Given the description of an element on the screen output the (x, y) to click on. 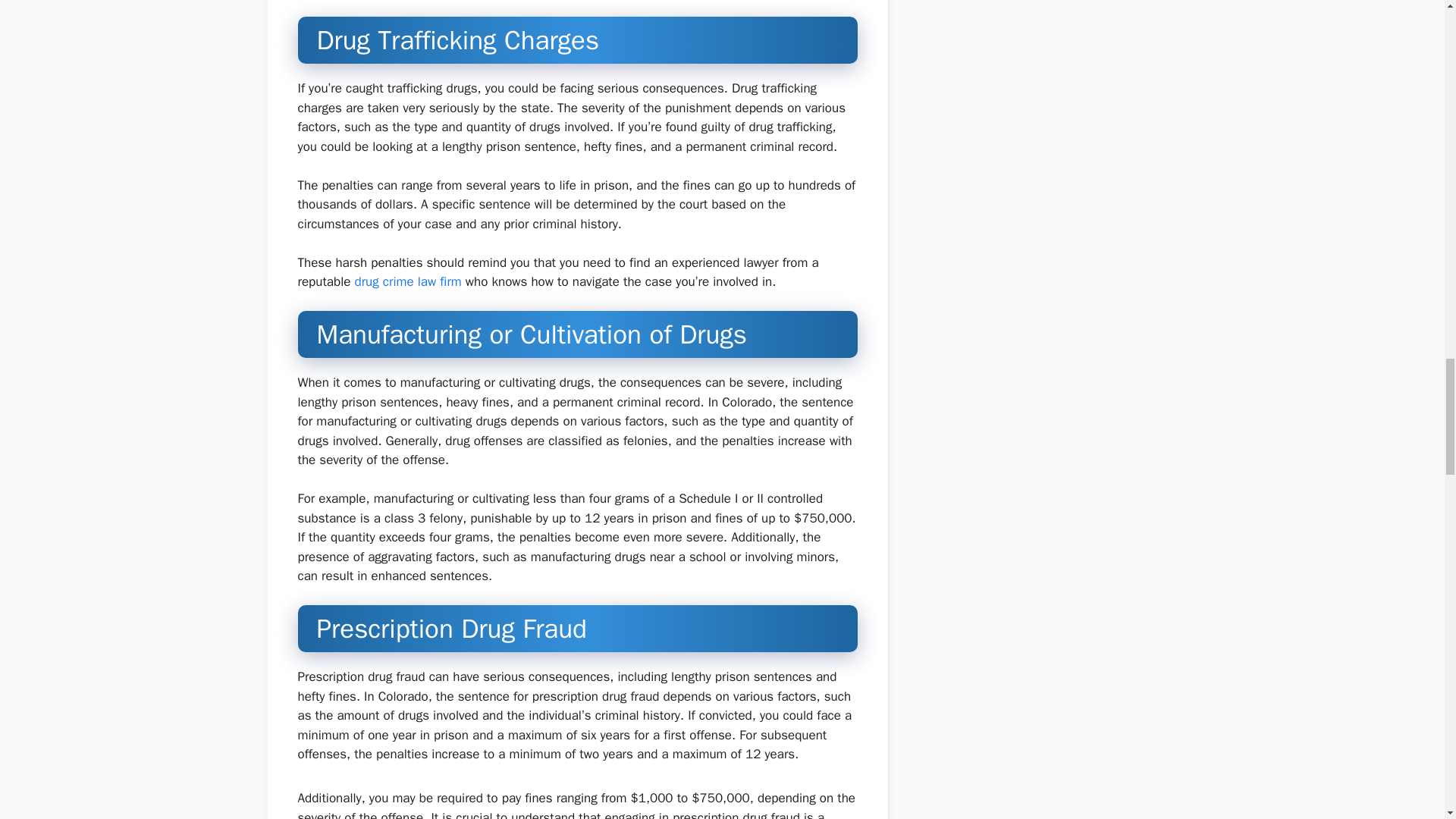
drug crime law firm (408, 281)
